Given the description of an element on the screen output the (x, y) to click on. 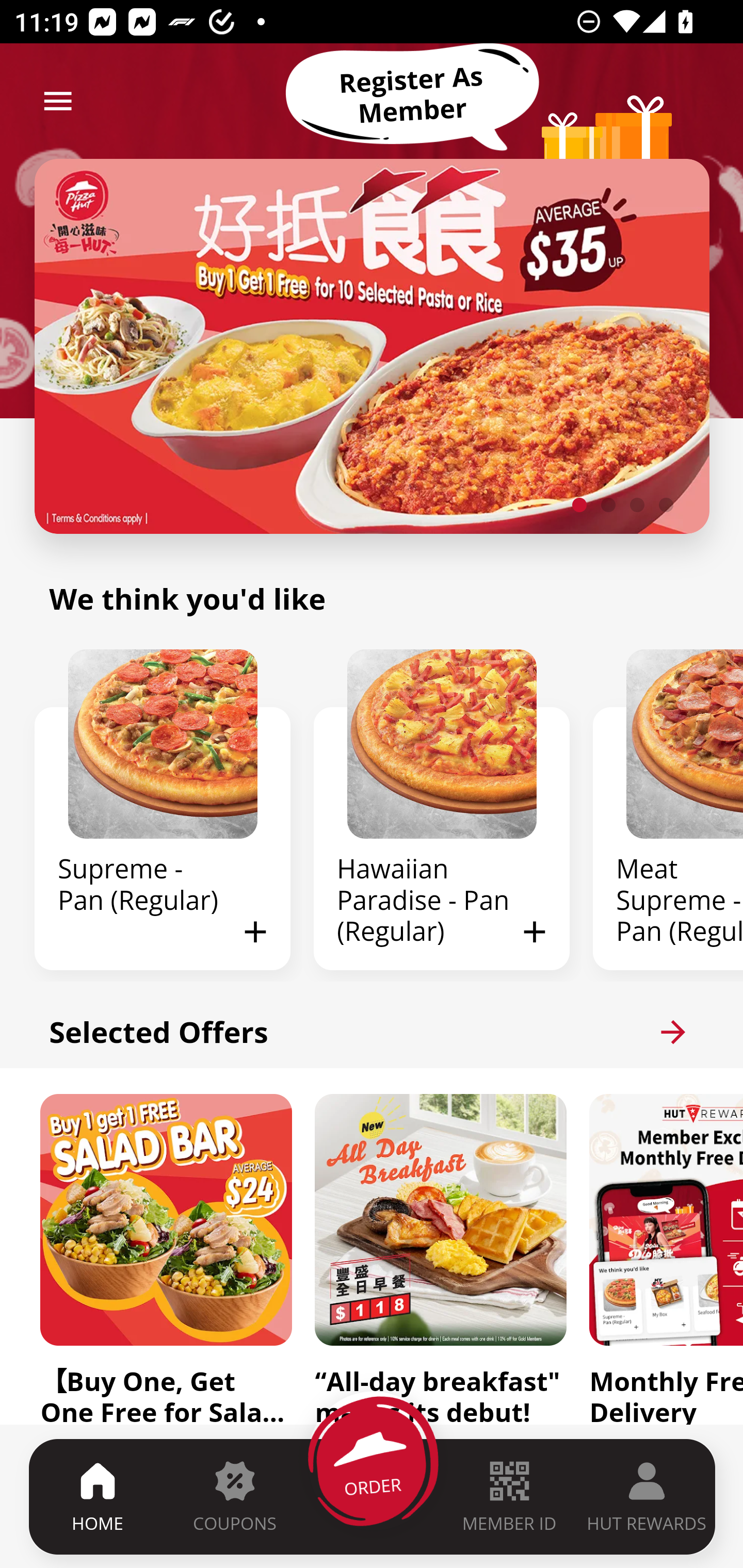
Register As Member (411, 95)
menu (58, 100)
arrow_forward (672, 1031)
HOME (97, 1496)
COUPONS (234, 1496)
ORDER (372, 1496)
MEMBER ID (509, 1496)
HUT REWARDS (647, 1496)
